Given the description of an element on the screen output the (x, y) to click on. 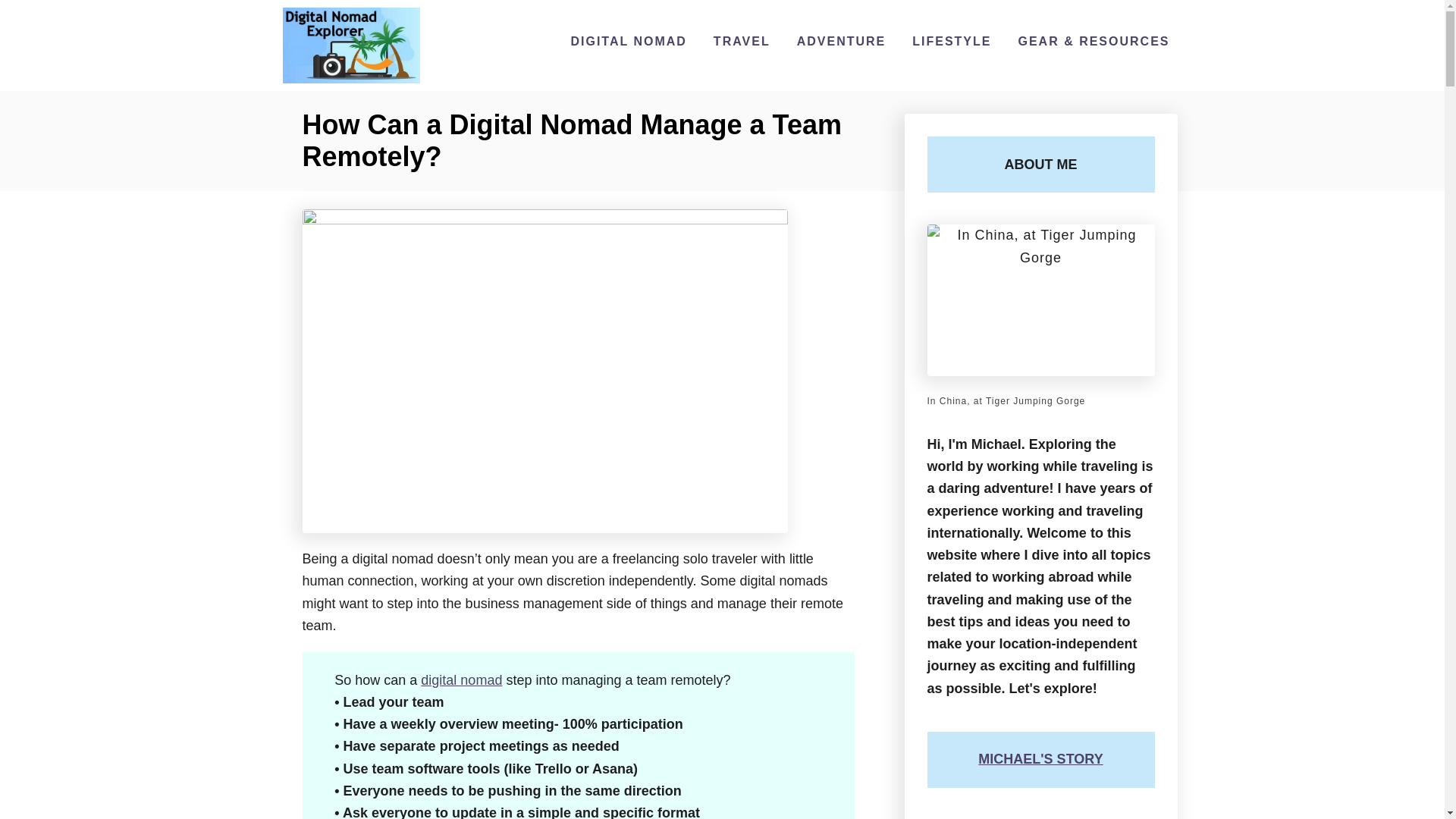
digital nomad (461, 679)
Digital Nomad Explorer (351, 45)
LIFESTYLE (951, 41)
DIGITAL NOMAD (628, 41)
ADVENTURE (841, 41)
MICHAEL'S STORY (1040, 758)
TRAVEL (741, 41)
digital nomad (461, 679)
